Given the description of an element on the screen output the (x, y) to click on. 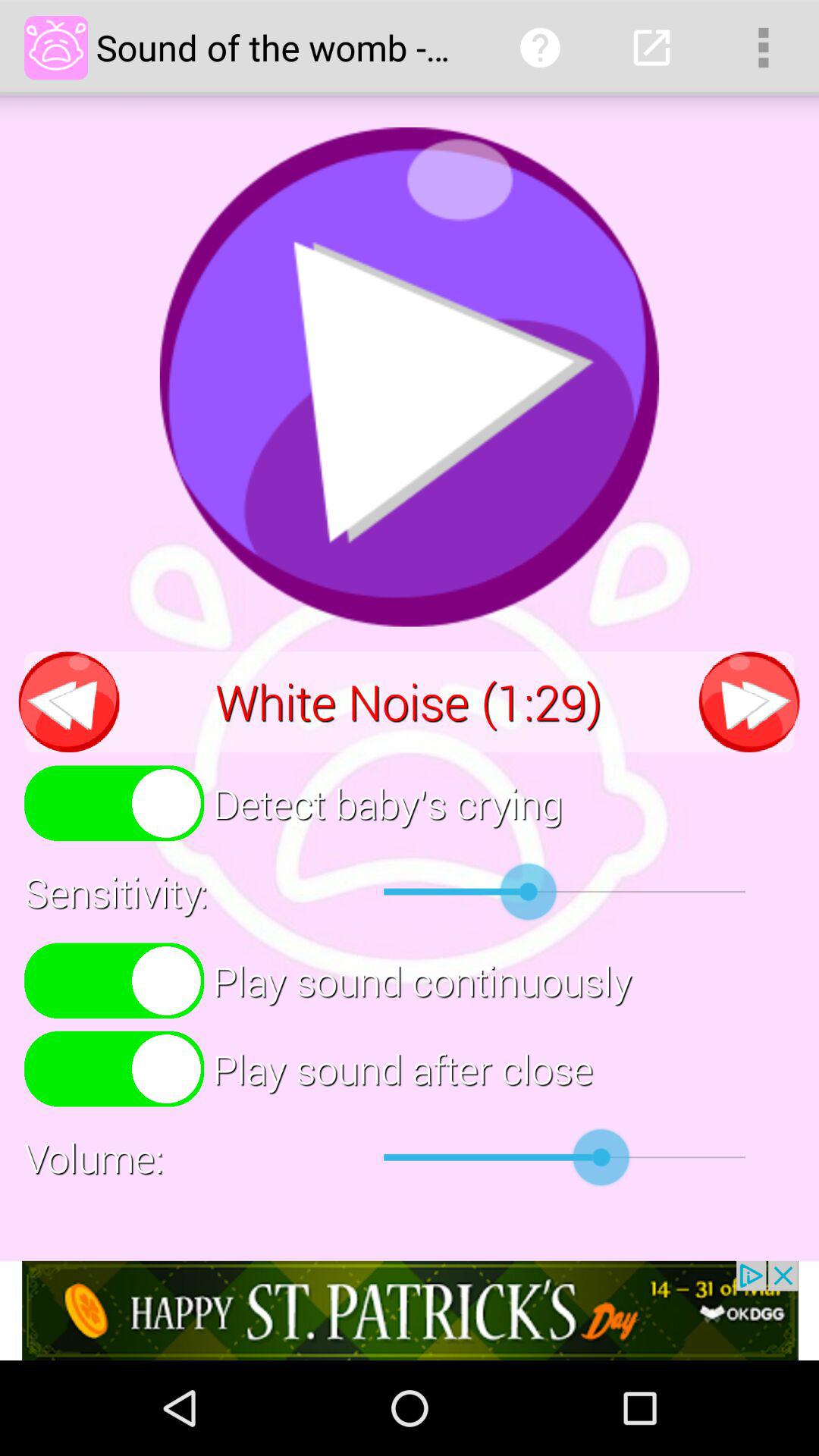
rewind button (68, 701)
